Given the description of an element on the screen output the (x, y) to click on. 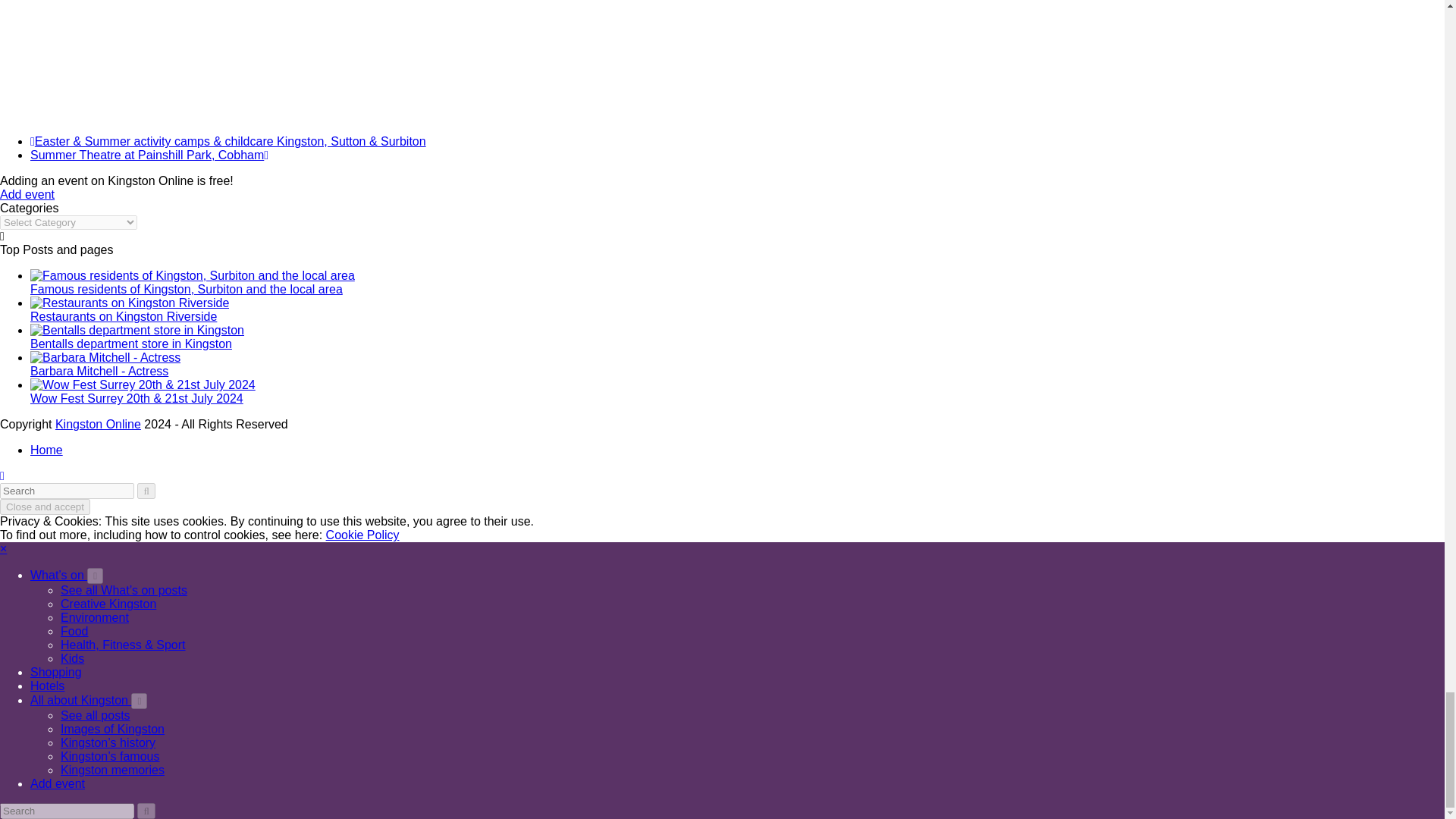
Famous residents of Kingston, Surbiton and the local area (186, 288)
Close and accept (45, 506)
Restaurants on Kingston Riverside (129, 302)
Bentalls department store in Kingston (137, 329)
Famous residents of Kingston, Surbiton and the local area (192, 275)
Bentalls department store in Kingston (130, 343)
Restaurants on Kingston Riverside (123, 316)
